Given the description of an element on the screen output the (x, y) to click on. 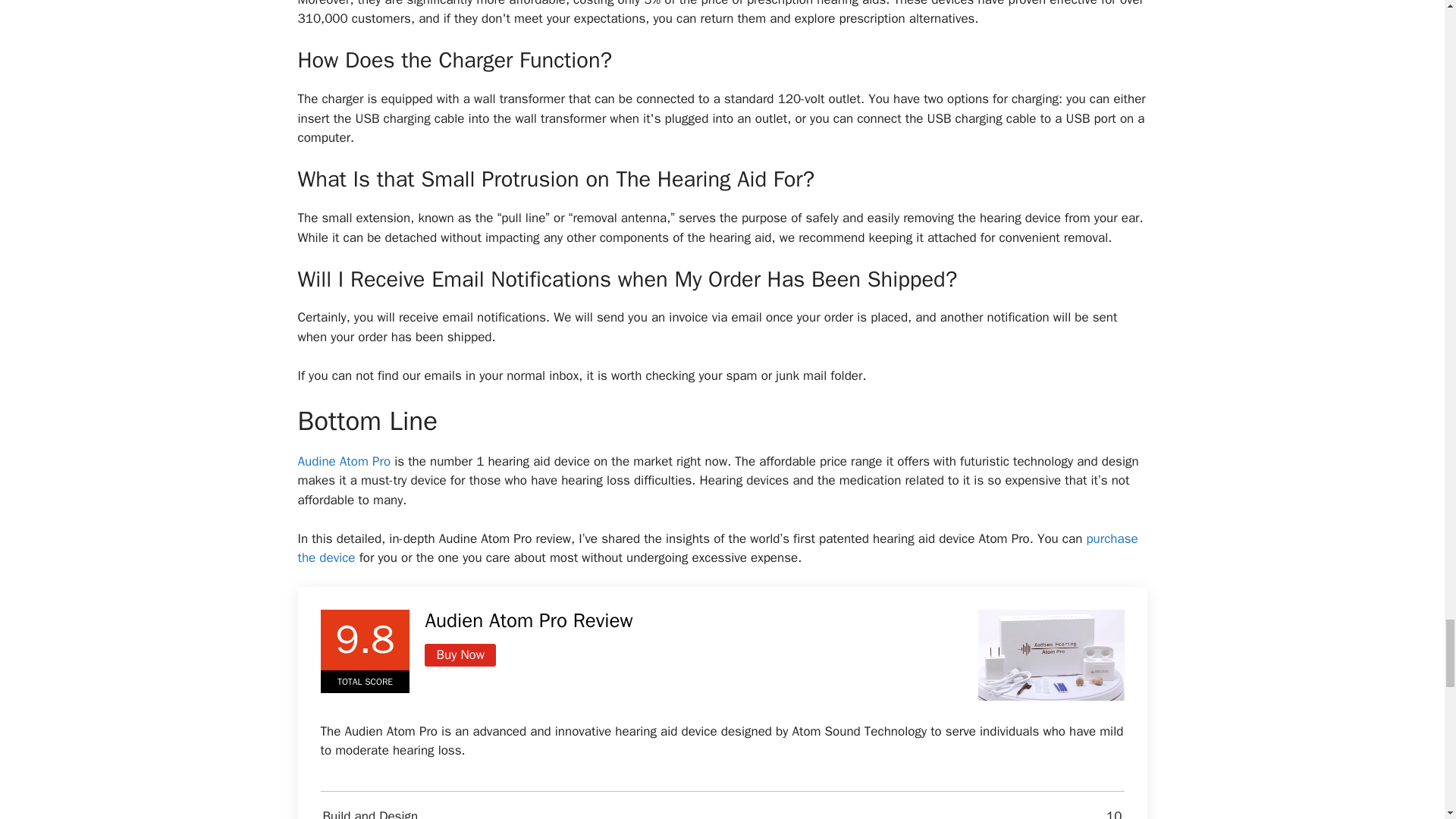
Buy Now (460, 654)
purchase the device (717, 548)
Audine Atom Pro (343, 461)
